Given the description of an element on the screen output the (x, y) to click on. 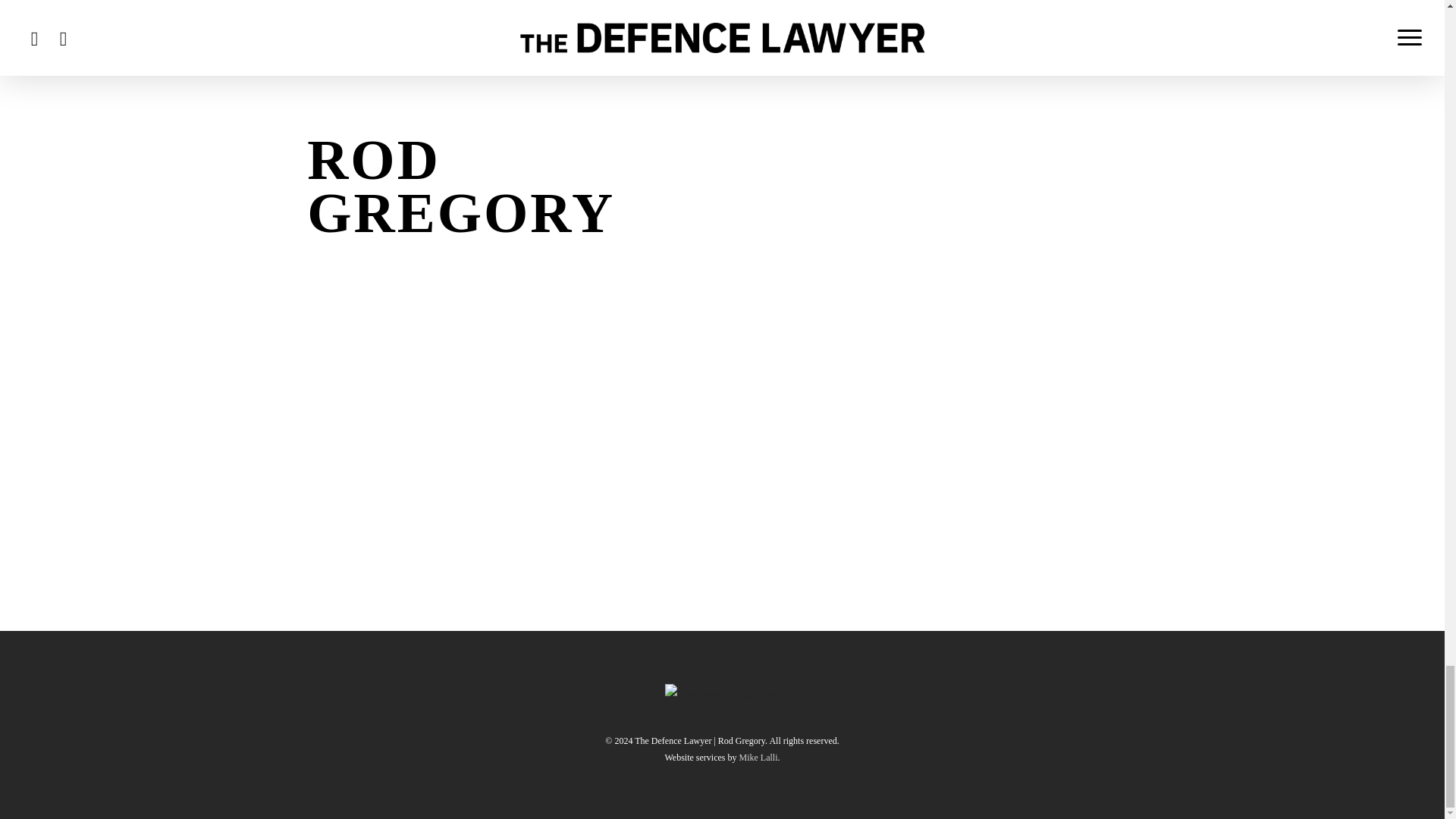
Mike Lalli (757, 757)
